Given the description of an element on the screen output the (x, y) to click on. 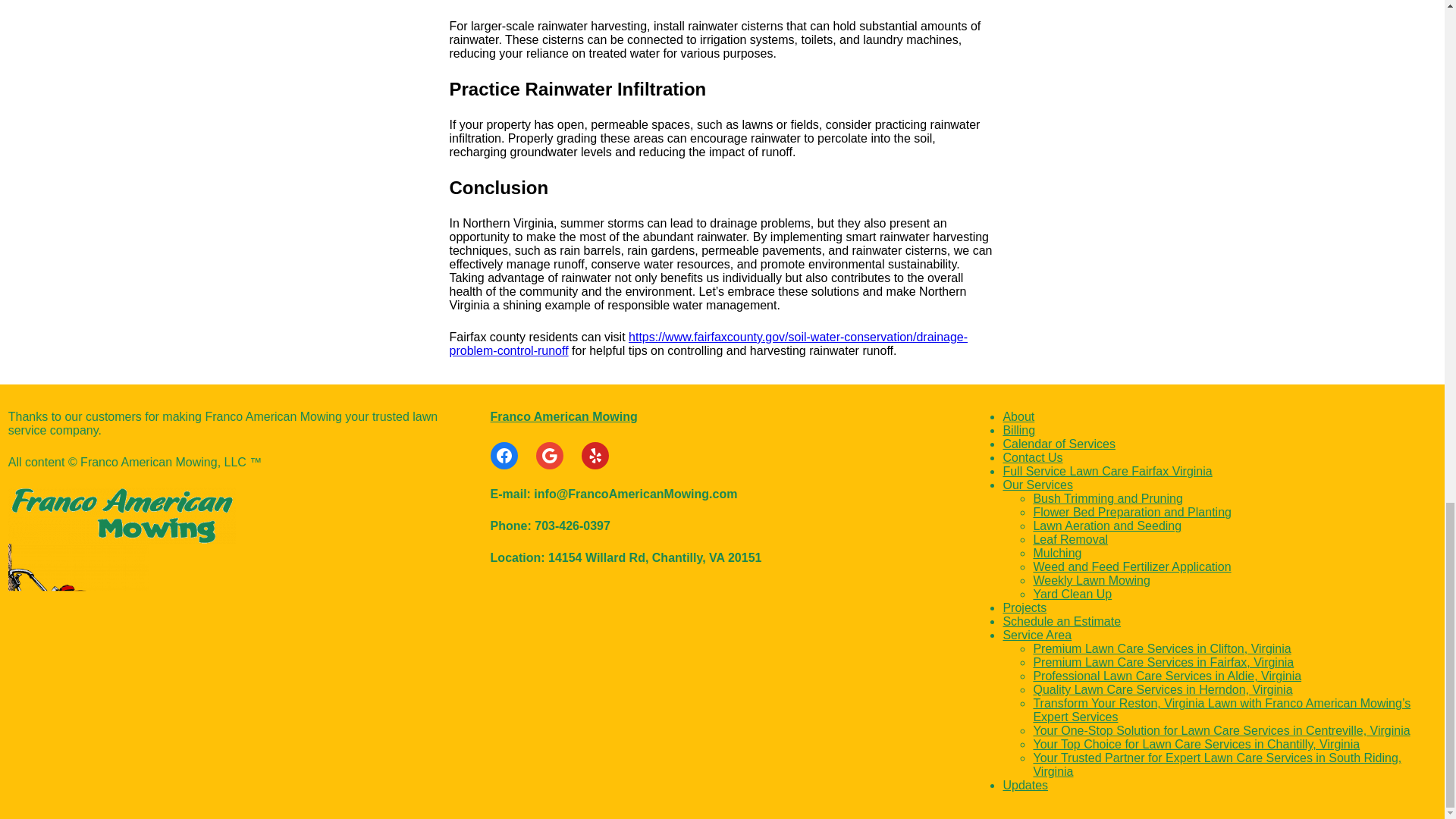
Google (549, 455)
Contact Us (1032, 457)
Schedule an Estimate (1062, 621)
Facebook (504, 455)
Weed and Feed Fertilizer Application (1131, 566)
Mulching (1056, 553)
Franco American Mowing (563, 416)
About (1018, 416)
Lawn Aeration and Seeding (1106, 525)
Billing (1019, 430)
